Given the description of an element on the screen output the (x, y) to click on. 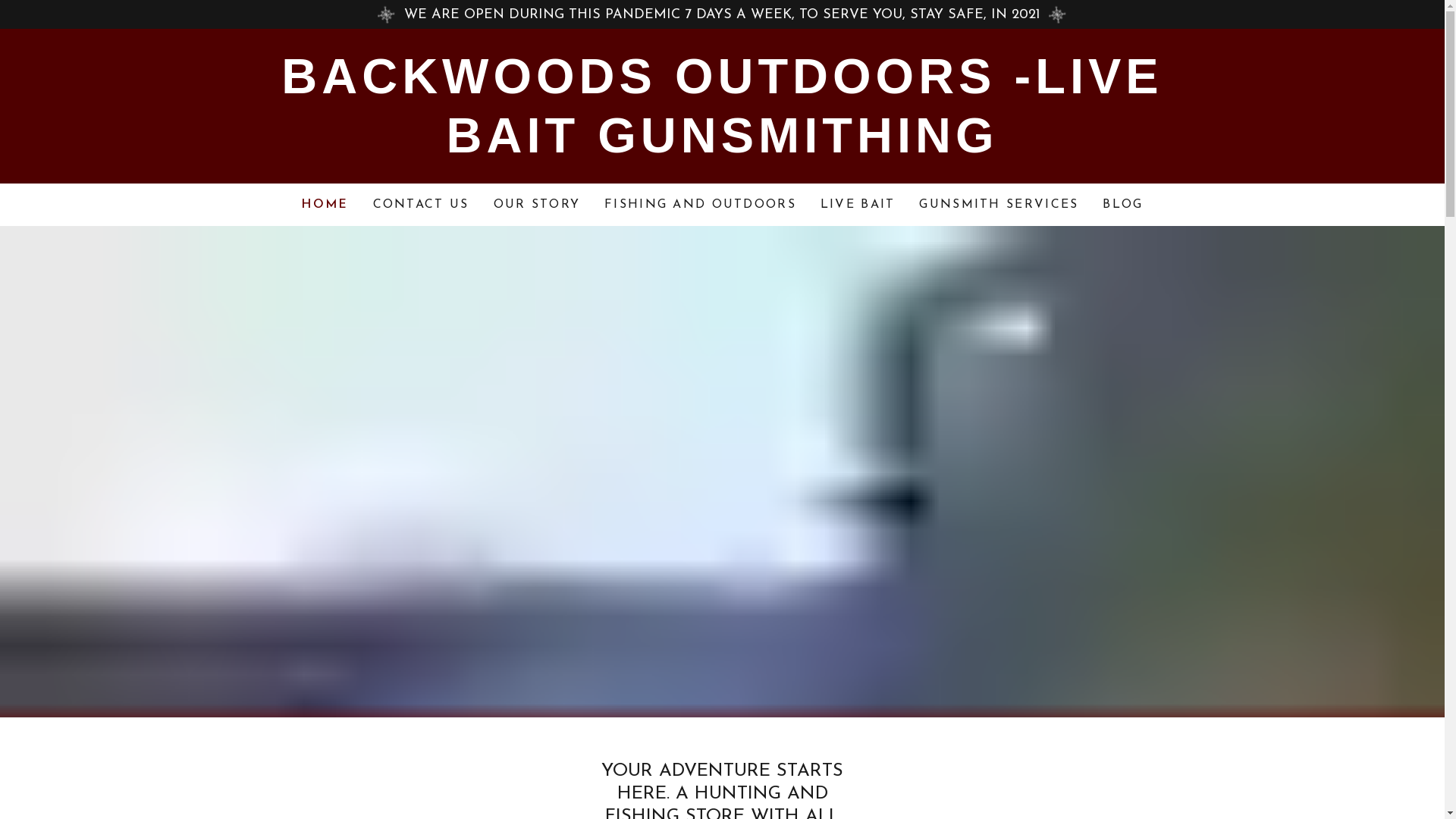
BLOG Element type: text (1122, 204)
CONTACT US Element type: text (420, 204)
BACKWOODS OUTDOORS -LIVE BAIT GUNSMITHING Element type: text (721, 148)
OUR STORY Element type: text (537, 204)
HOME Element type: text (324, 204)
LIVE BAIT Element type: text (857, 204)
GUNSMITH SERVICES Element type: text (998, 204)
FISHING AND OUTDOORS Element type: text (699, 204)
